Given the description of an element on the screen output the (x, y) to click on. 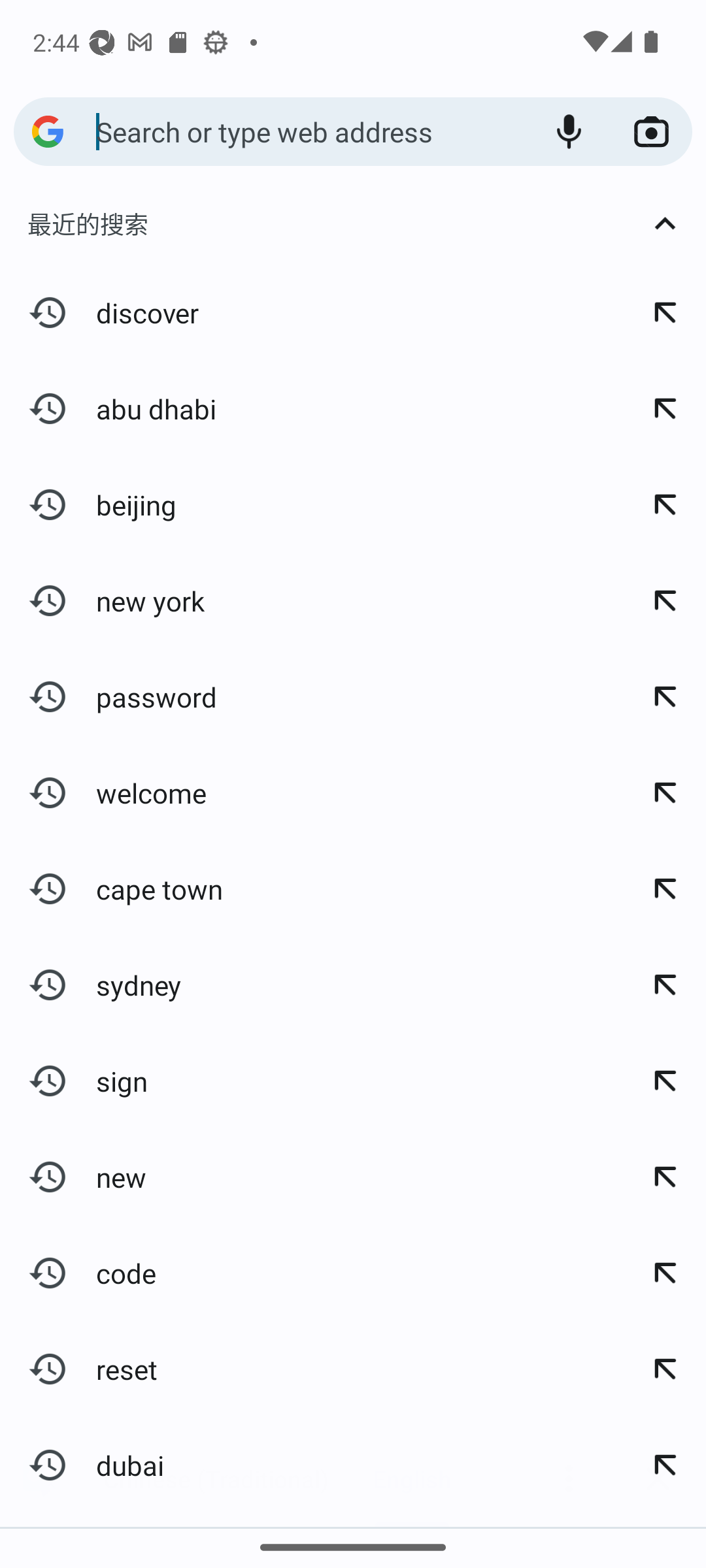
Start voice search (568, 131)
Search with your camera using Google Lens (650, 131)
Search or type web address (311, 131)
最近的搜索 (353, 222)
discover (311, 312)
Refine: discover (664, 312)
abu dhabi (311, 408)
Refine: abu dhabi (664, 408)
beijing (311, 503)
Refine: beijing (664, 503)
new york (311, 600)
Refine: new york (664, 600)
password (311, 696)
Refine: password (664, 696)
welcome (311, 792)
Refine: welcome (664, 792)
cape town (311, 888)
Refine: cape town (664, 888)
sydney (311, 985)
Refine: sydney (664, 985)
sign (311, 1080)
Refine: sign (664, 1080)
new (311, 1176)
Refine: new (664, 1176)
code (311, 1272)
Refine: code (664, 1272)
reset (311, 1368)
Refine: reset (664, 1368)
dubai (311, 1465)
Refine: dubai (664, 1465)
